Given the description of an element on the screen output the (x, y) to click on. 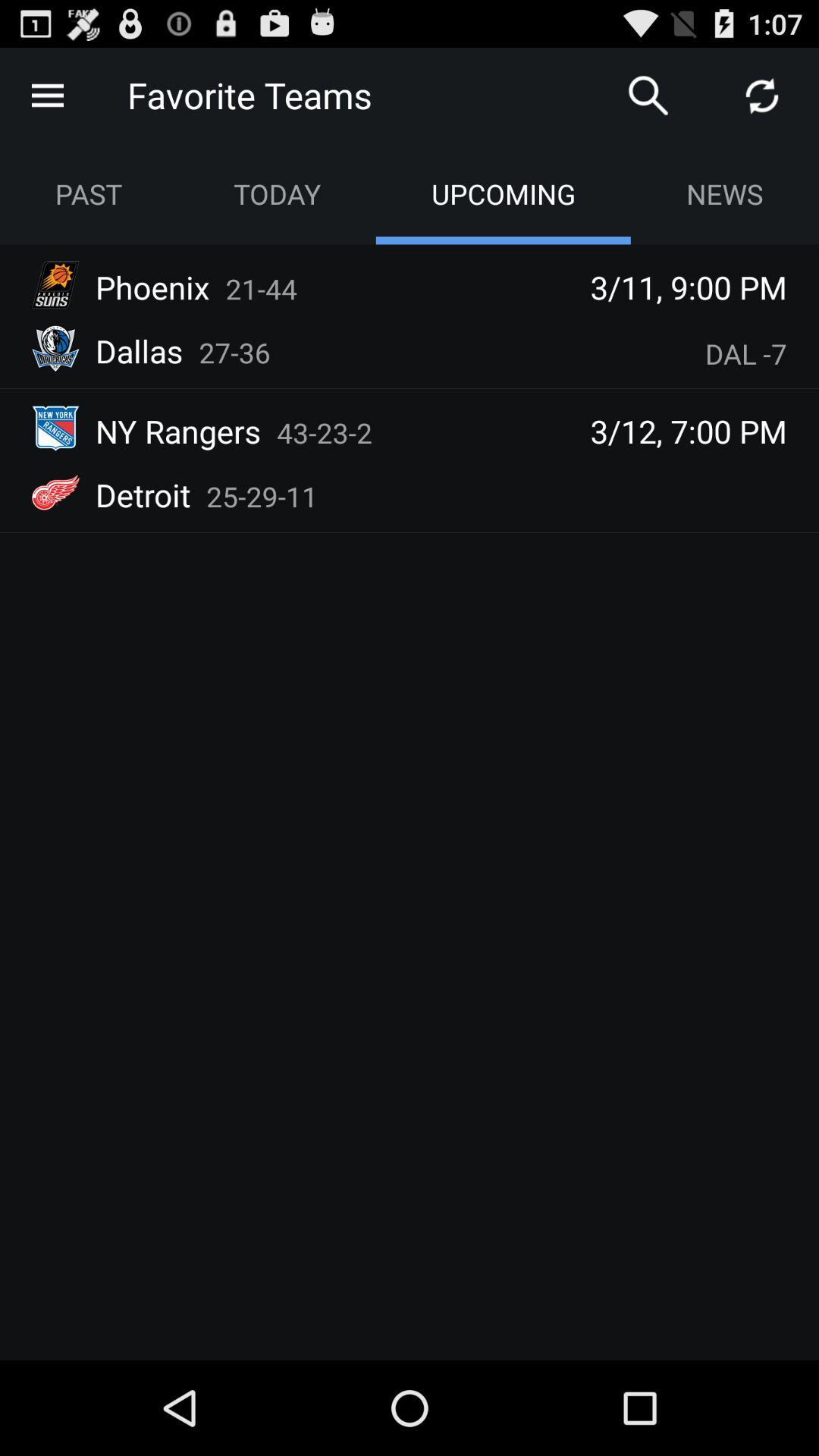
scroll until the detroit item (142, 494)
